Given the description of an element on the screen output the (x, y) to click on. 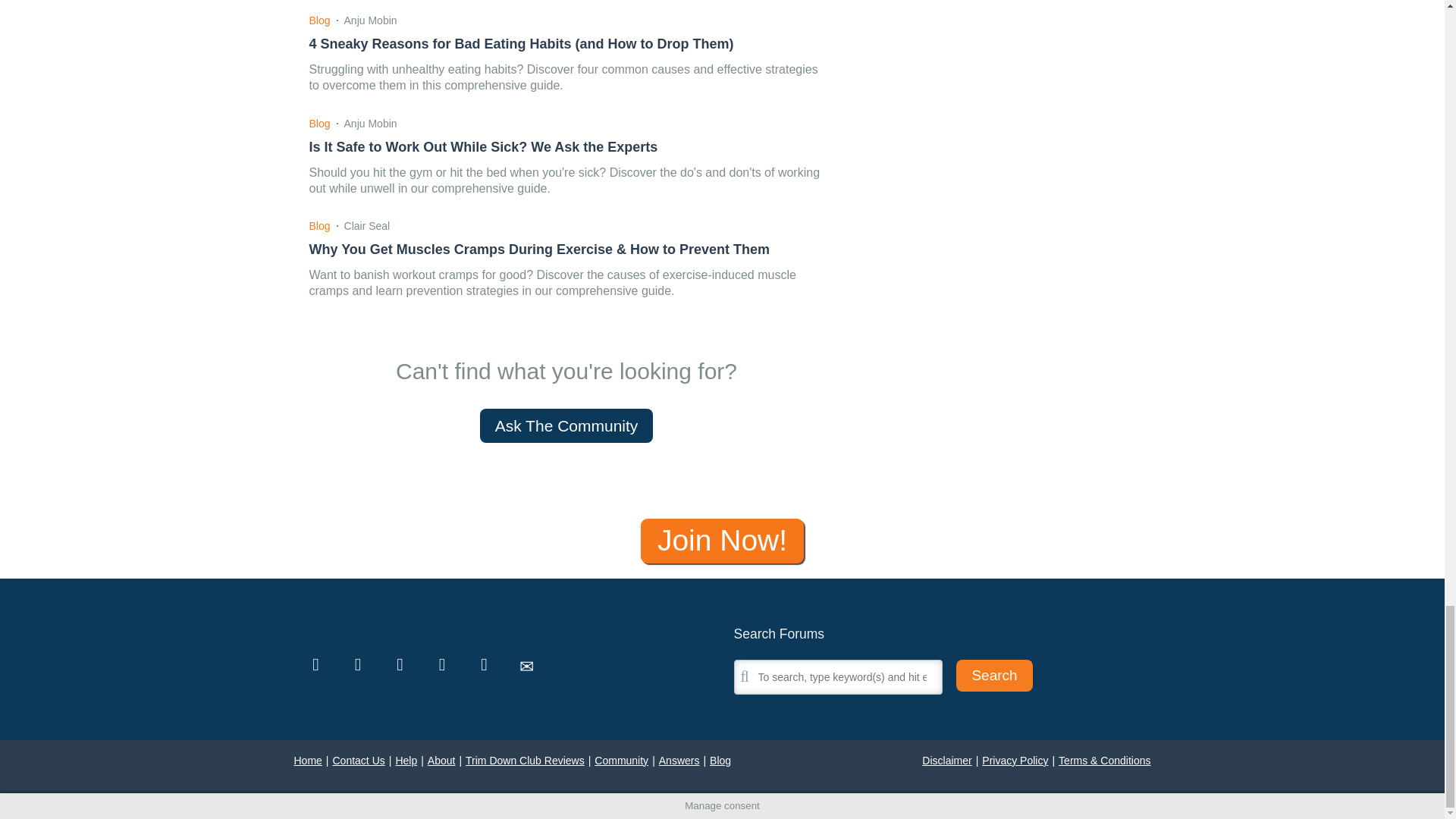
Share on Linkedin (483, 663)
Share via mail (526, 664)
Share on Pinterest (441, 663)
Search (994, 676)
Share on Facebook (357, 663)
Tweet on Twitter (315, 663)
